Given the description of an element on the screen output the (x, y) to click on. 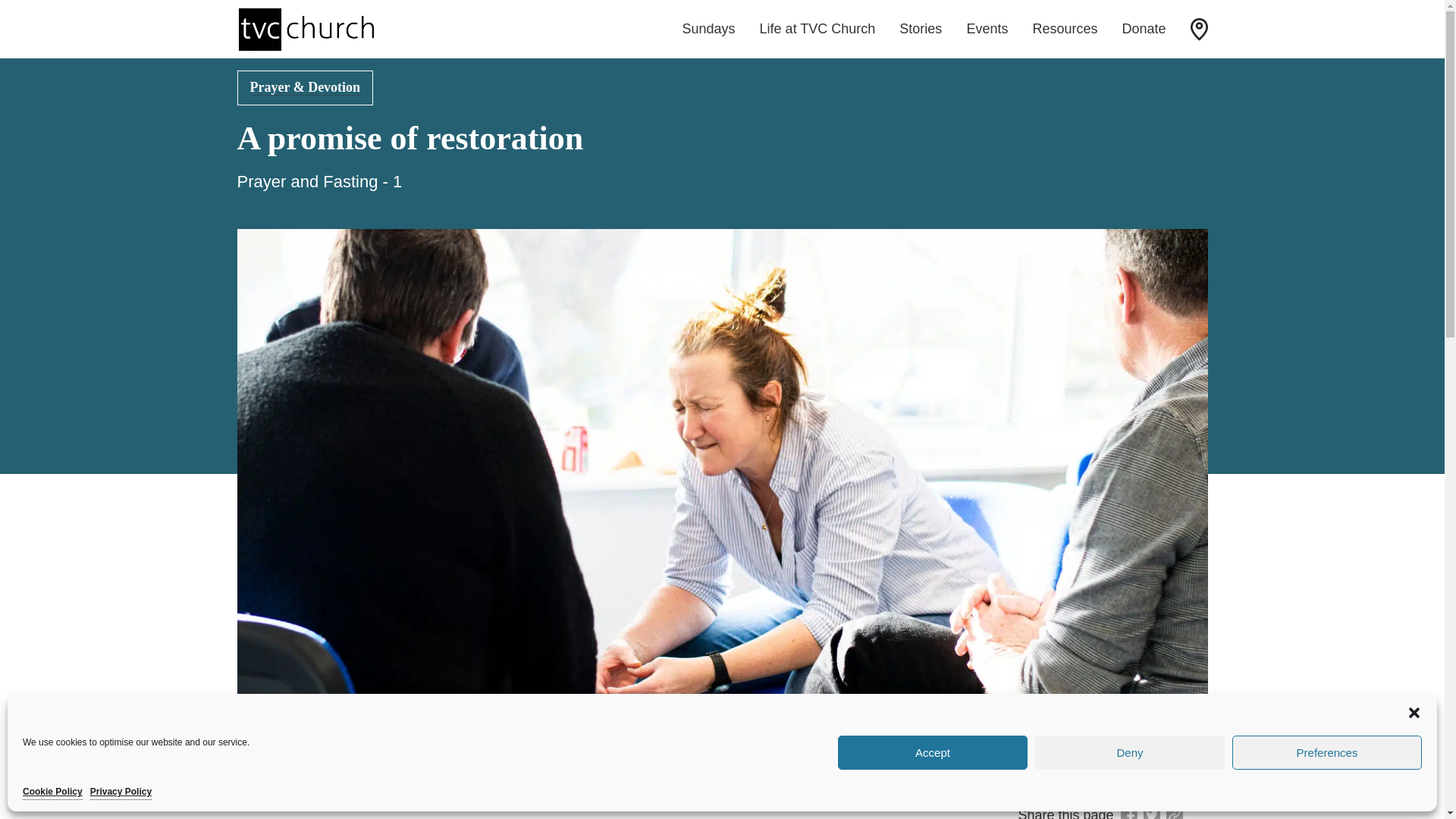
Twitter (1151, 812)
TVC Church (304, 28)
Preferences (1326, 752)
Life at TVC Church (818, 29)
Events (986, 29)
Accept (932, 752)
Stories (920, 29)
Facebook (1129, 812)
Deny (1129, 752)
Sundays (708, 29)
Resources (1064, 29)
Donate (1143, 29)
Cookie Policy (52, 792)
Copy Link (1174, 812)
Privacy Policy (120, 792)
